Given the description of an element on the screen output the (x, y) to click on. 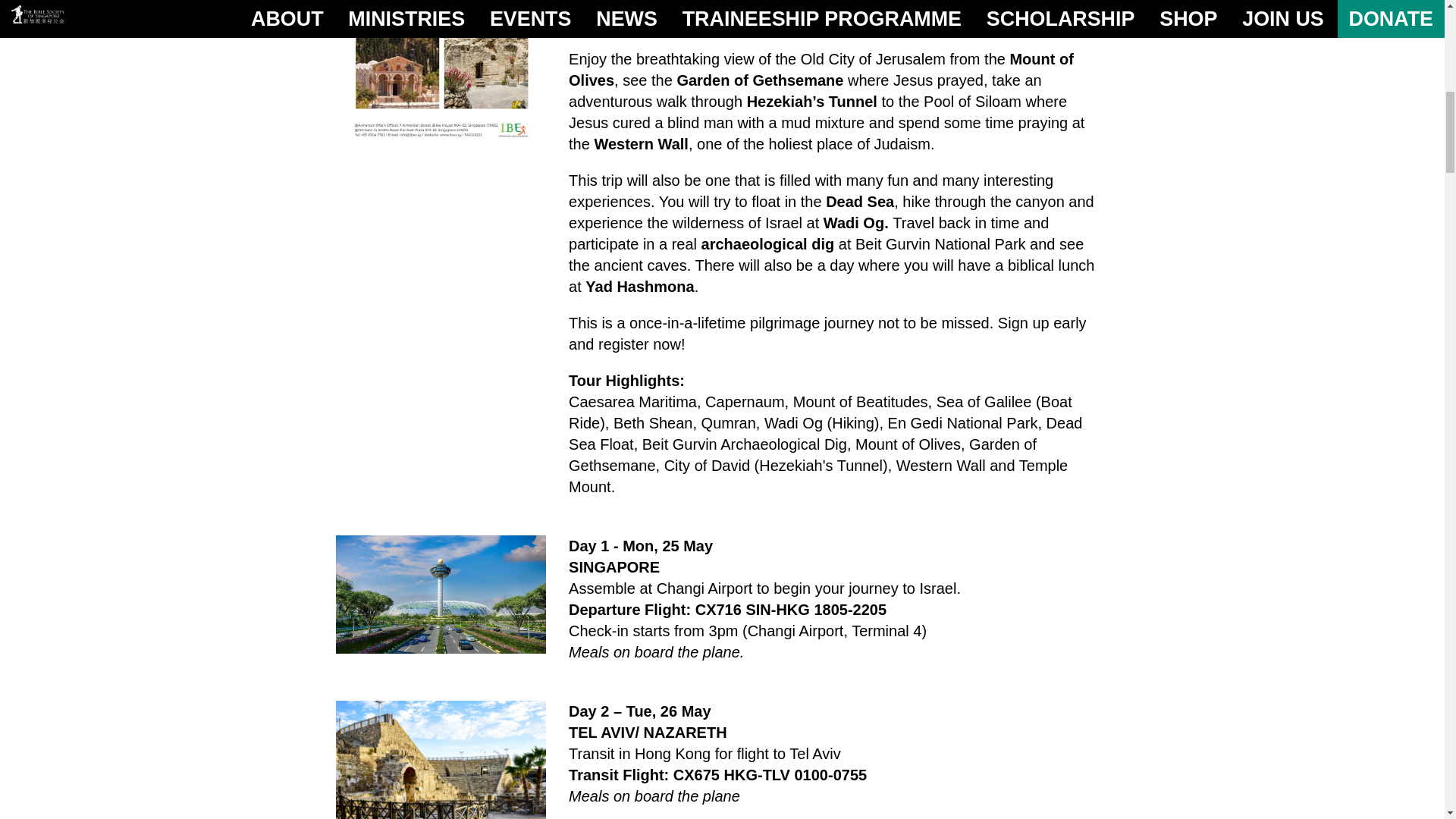
Cover Page (440, 73)
Changi Airport (440, 594)
Caesarea Maritima (440, 760)
